Given the description of an element on the screen output the (x, y) to click on. 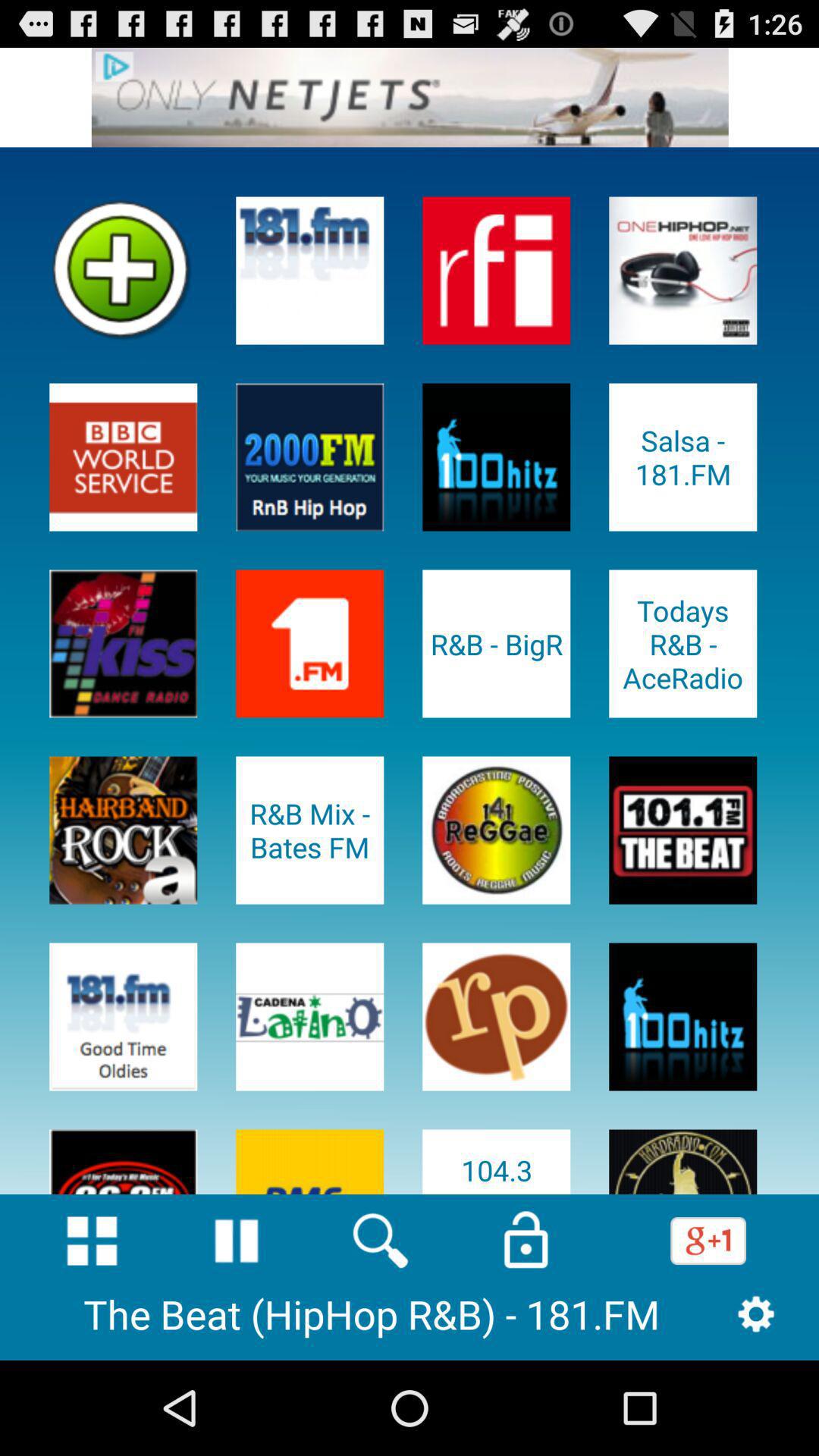
go to settings (756, 1313)
